Given the description of an element on the screen output the (x, y) to click on. 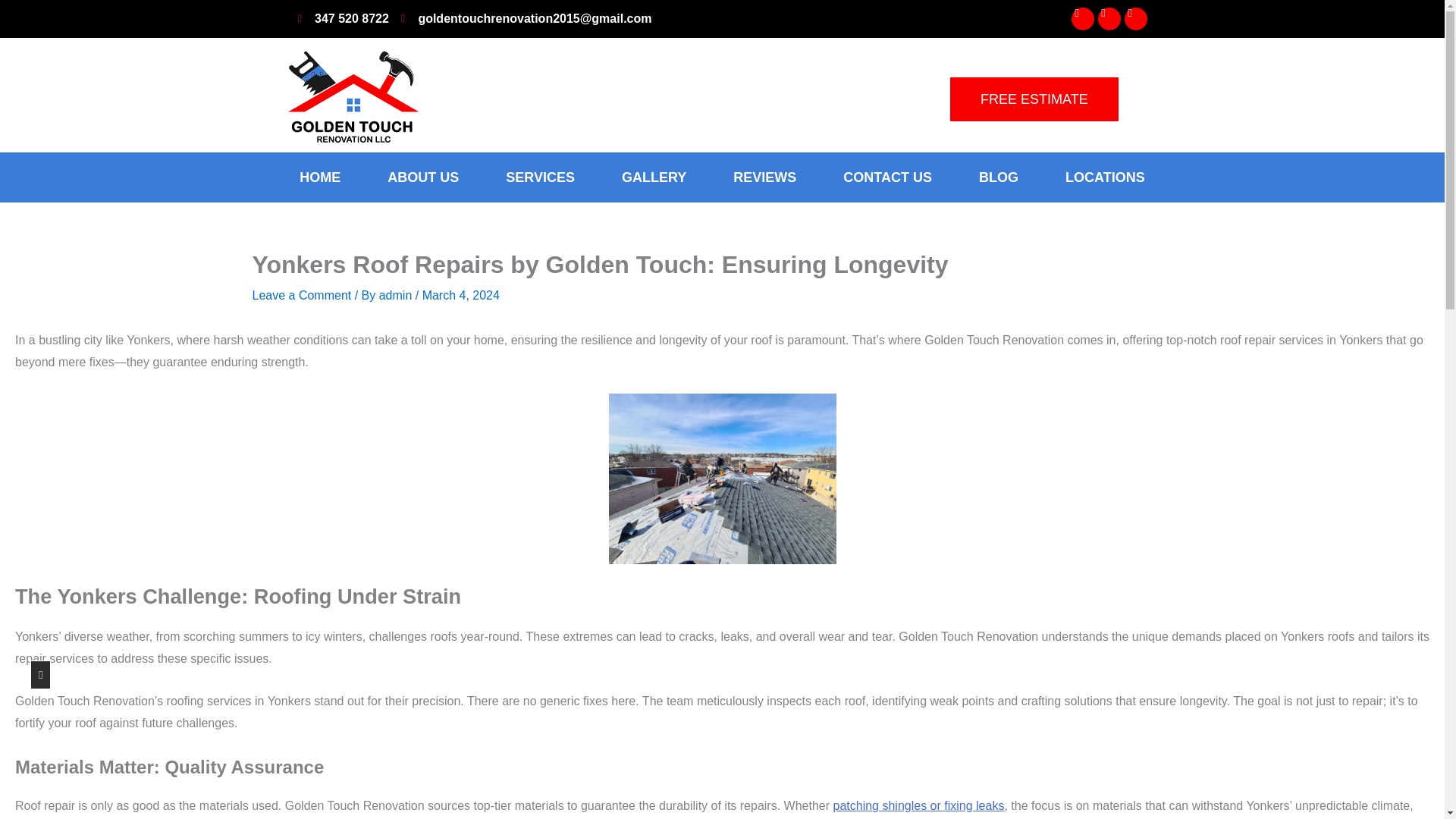
Youtube (1135, 18)
View all posts by admin (396, 295)
Instagram (1081, 18)
Facebook-f (1109, 18)
SERVICES (539, 176)
347 520 8722 (342, 18)
FREE ESTIMATE (1034, 98)
CONTACT US (887, 176)
BLOG (998, 176)
LOCATIONS (1105, 176)
